Given the description of an element on the screen output the (x, y) to click on. 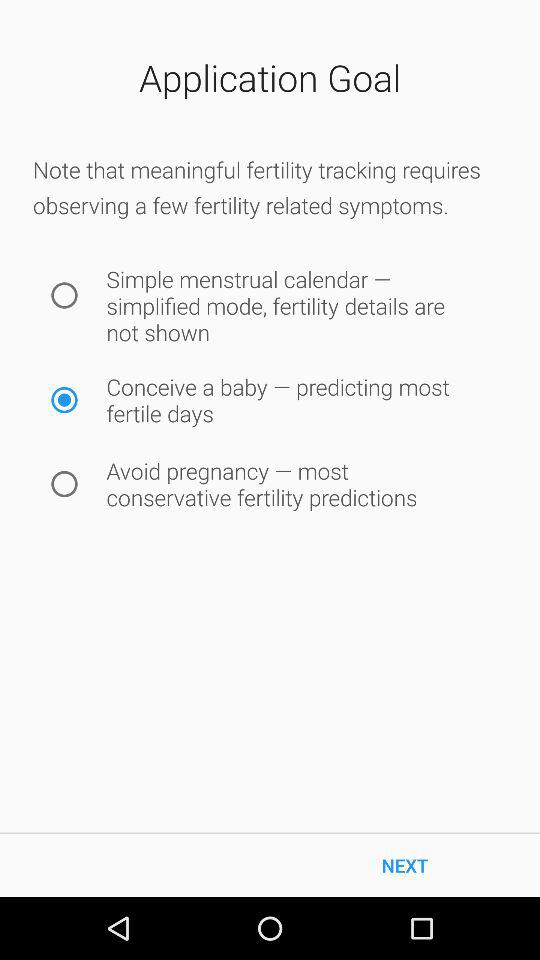
choose fertility goal (64, 399)
